Given the description of an element on the screen output the (x, y) to click on. 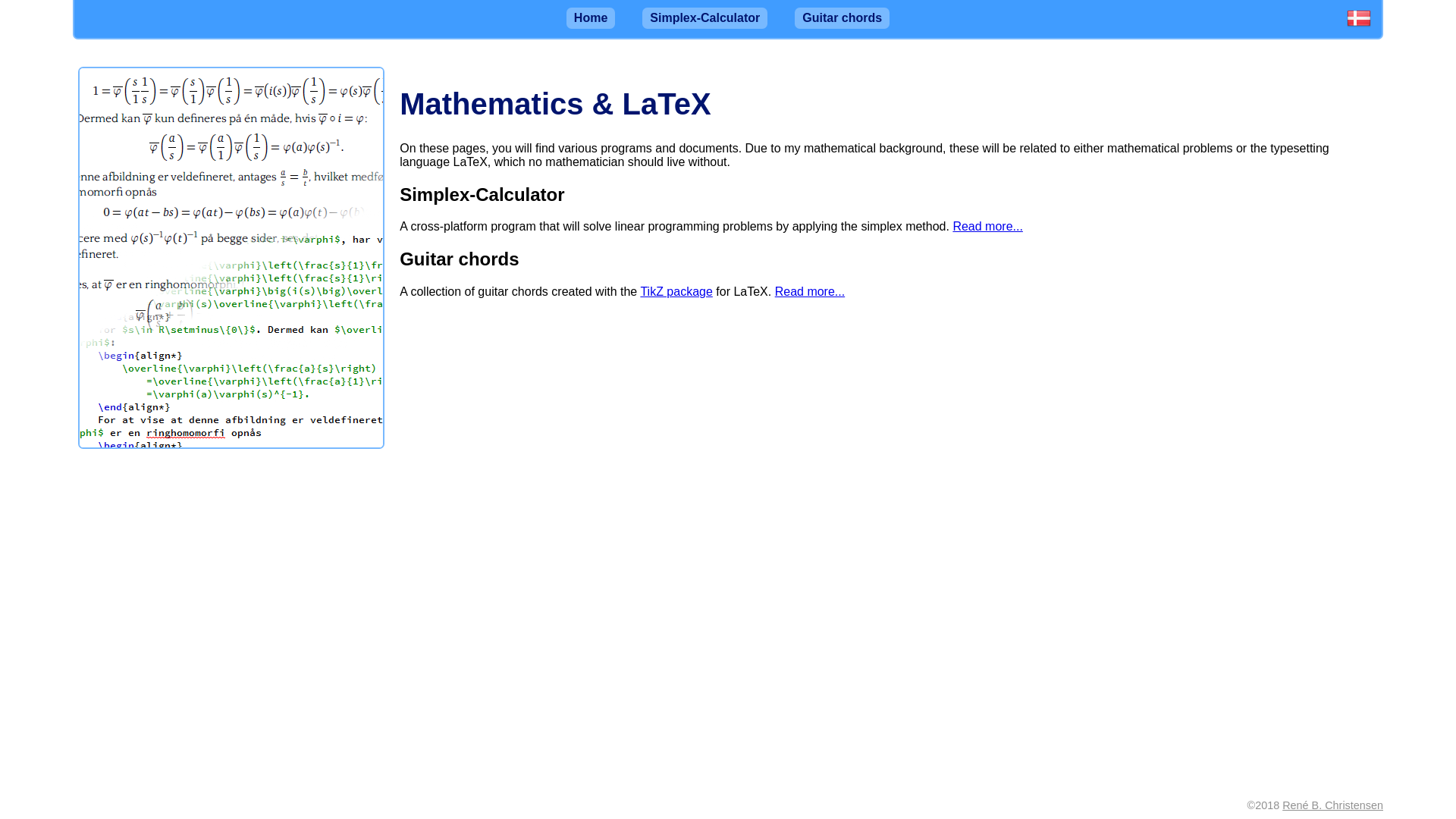
Simplex-Calculator (704, 17)
Read more... (809, 291)
Read more... (987, 226)
TikZ package (675, 291)
Home (590, 17)
Guitar chords (841, 17)
